Given the description of an element on the screen output the (x, y) to click on. 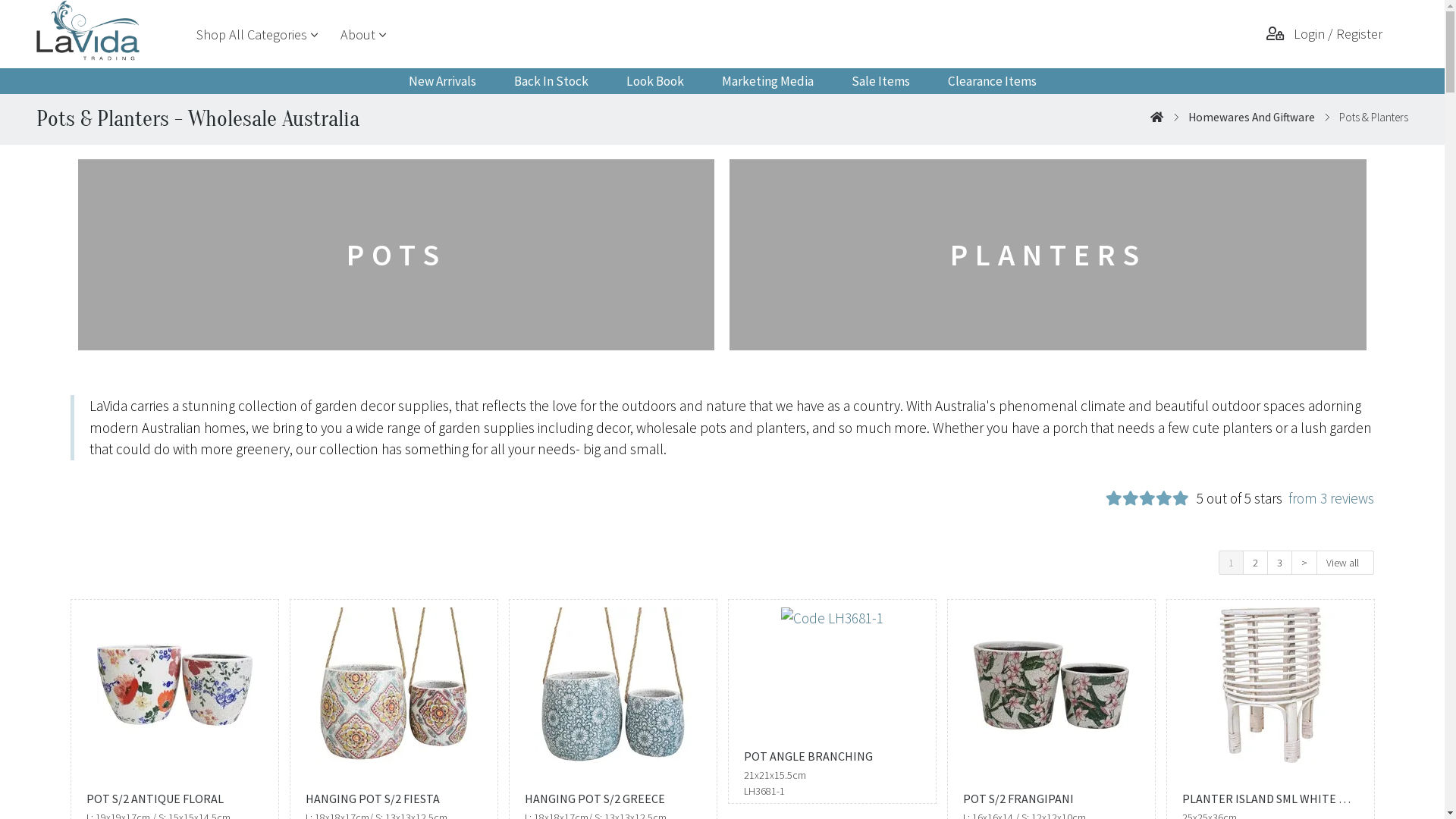
Code LH3681-1 Element type: hover (831, 614)
POTS Element type: text (396, 255)
POT S/2 ANTIQUE FLORAL Element type: text (174, 802)
  from 3 reviews Element type: text (1328, 500)
Homewares And Giftware Element type: text (1251, 116)
About Element type: text (357, 34)
Sale Items Element type: text (880, 81)
Code FW0023-2 Element type: hover (1269, 680)
Back In Stock Element type: text (550, 81)
PLANTERS Element type: text (1047, 255)
3 Element type: text (1279, 562)
View all Element type: text (1345, 562)
POT ANGLE BRANCHING Element type: text (831, 756)
HANGING POT S/2 FIESTA Element type: text (393, 802)
Marketing Media Element type: text (766, 81)
POT S/2 FRANGIPANI Element type: text (1051, 802)
PLANTER ISLAND SML WHITE WASH Element type: text (1270, 802)
2 Element type: text (1255, 562)
HANGING POT S/2 GREECE Element type: text (612, 802)
Login / Register Element type: text (1326, 33)
Code LH3692-1 Element type: hover (174, 680)
Code LH3593-1 Element type: hover (1050, 680)
Code LH3688-1 Element type: hover (393, 680)
New Arrivals Element type: text (442, 81)
Shop All Categories Element type: text (251, 34)
> Element type: text (1304, 562)
Look Book Element type: text (654, 81)
Clearance Items Element type: text (991, 81)
1 Element type: text (1230, 562)
Code LH3685-1 Element type: hover (612, 680)
